Given the description of an element on the screen output the (x, y) to click on. 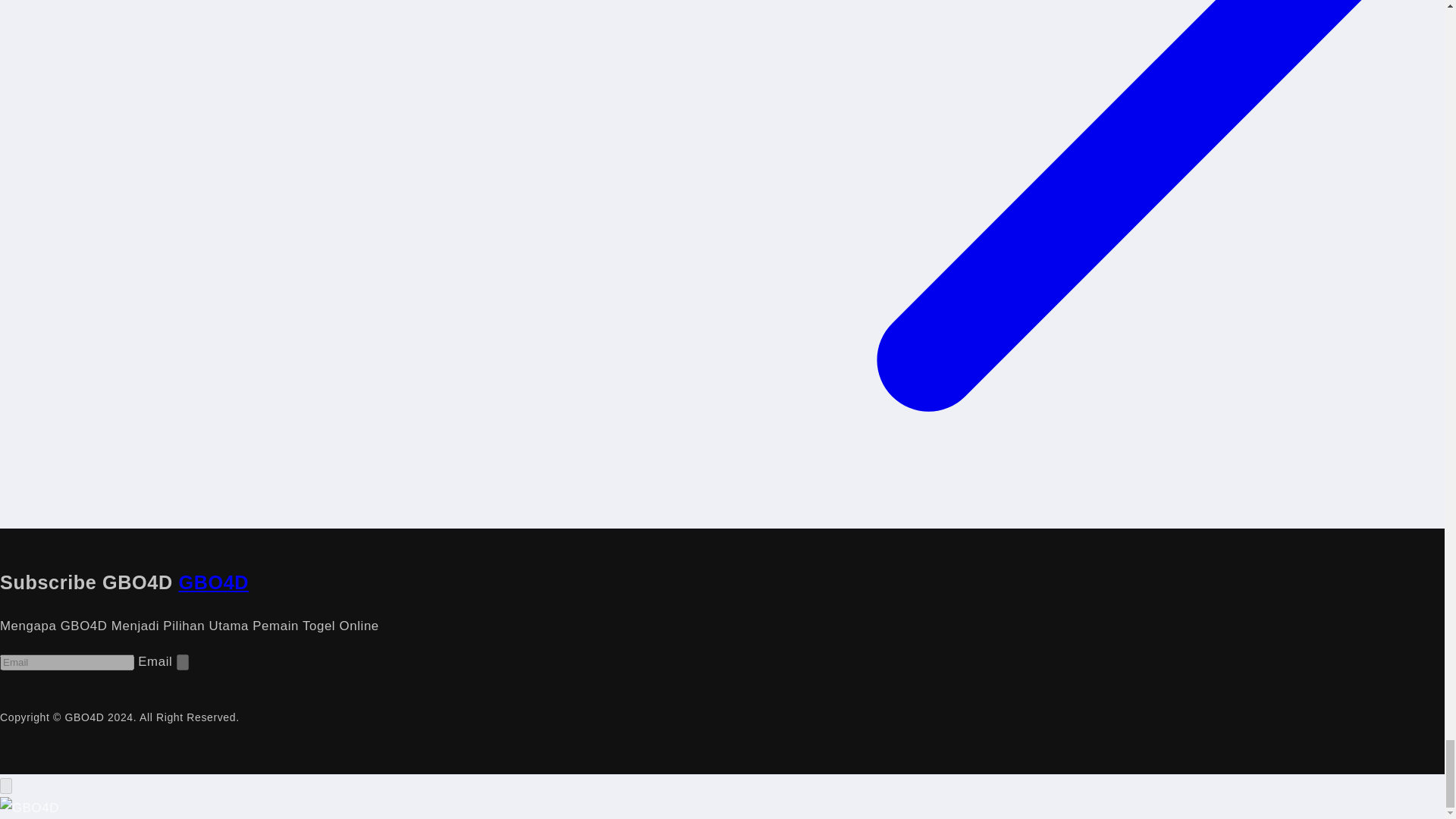
GBO4D (212, 581)
